Given the description of an element on the screen output the (x, y) to click on. 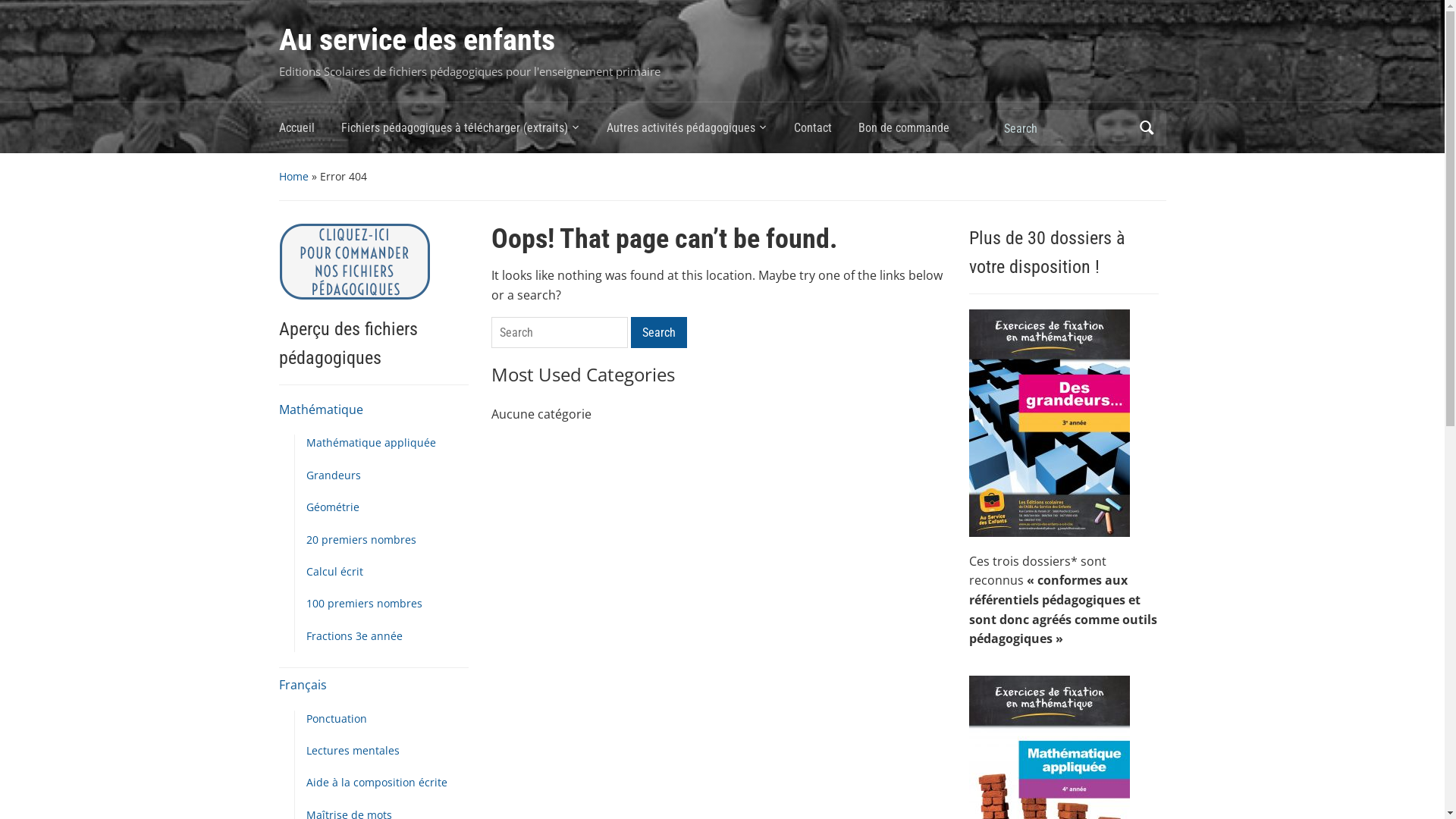
Search Element type: text (658, 332)
Contact Element type: text (825, 131)
Grandeurs Element type: text (333, 474)
Search Element type: text (1146, 127)
Au service des enfants Element type: text (417, 39)
Home Element type: text (293, 176)
Lectures mentales Element type: text (352, 750)
Accueil Element type: text (310, 131)
Bon de commande Element type: text (916, 131)
20 premiers nombres Element type: text (361, 539)
Ponctuation Element type: text (336, 718)
100 premiers nombres Element type: text (364, 603)
